Given the description of an element on the screen output the (x, y) to click on. 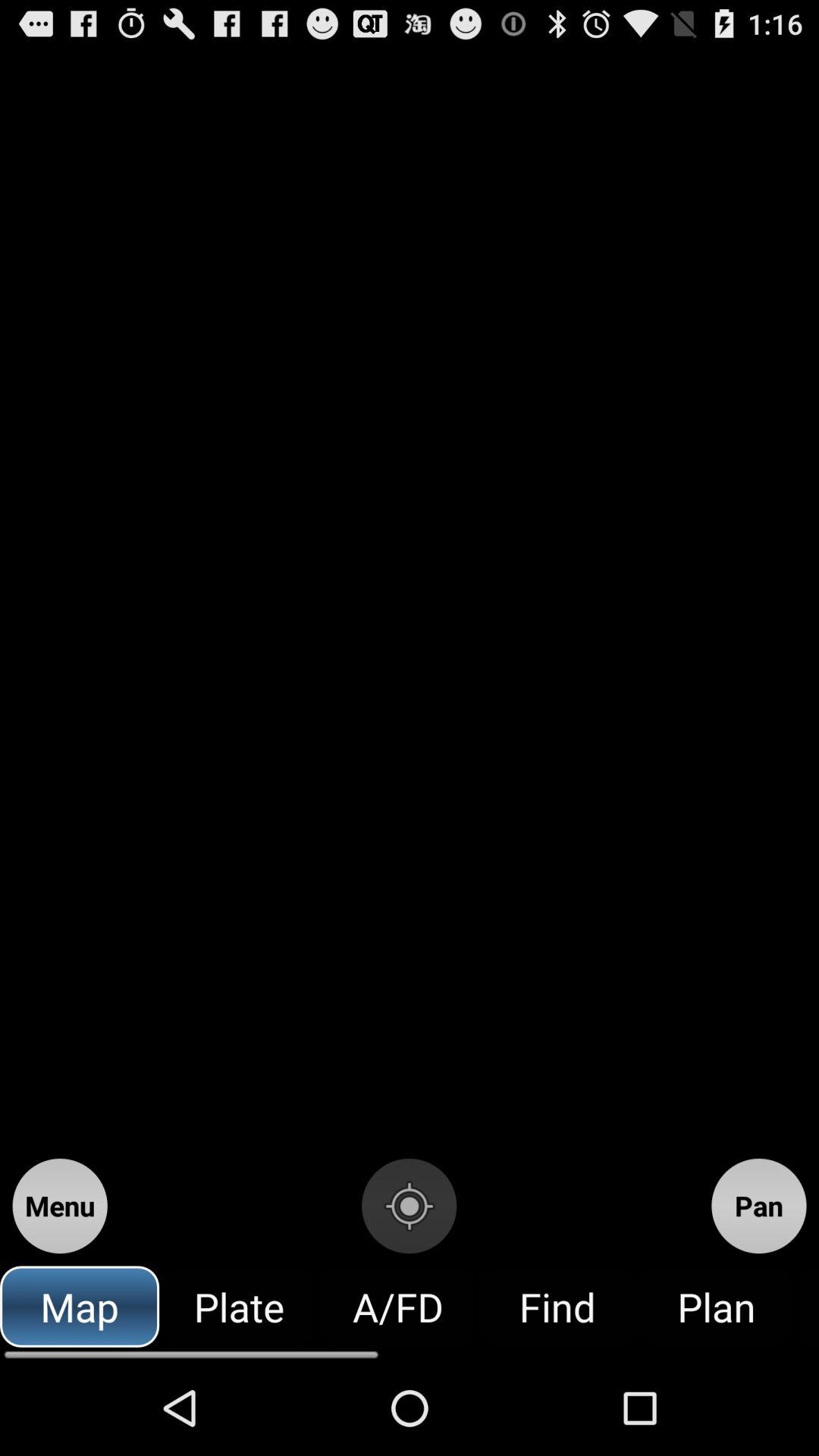
launch item to the right of menu button (408, 1205)
